Given the description of an element on the screen output the (x, y) to click on. 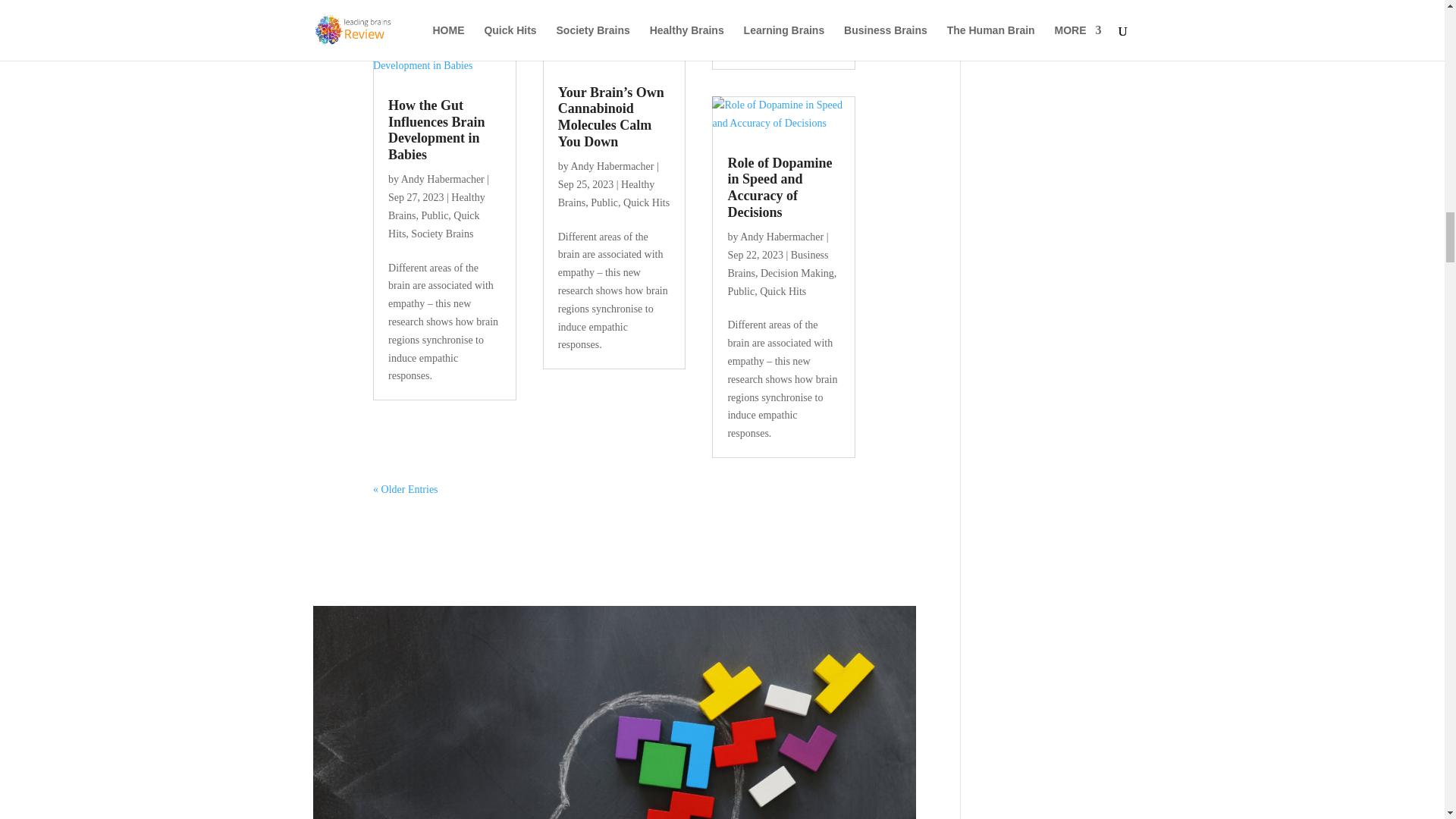
Posts by Andy Habermacher (611, 165)
Posts by Andy Habermacher (781, 236)
Posts by Andy Habermacher (442, 179)
